Given the description of an element on the screen output the (x, y) to click on. 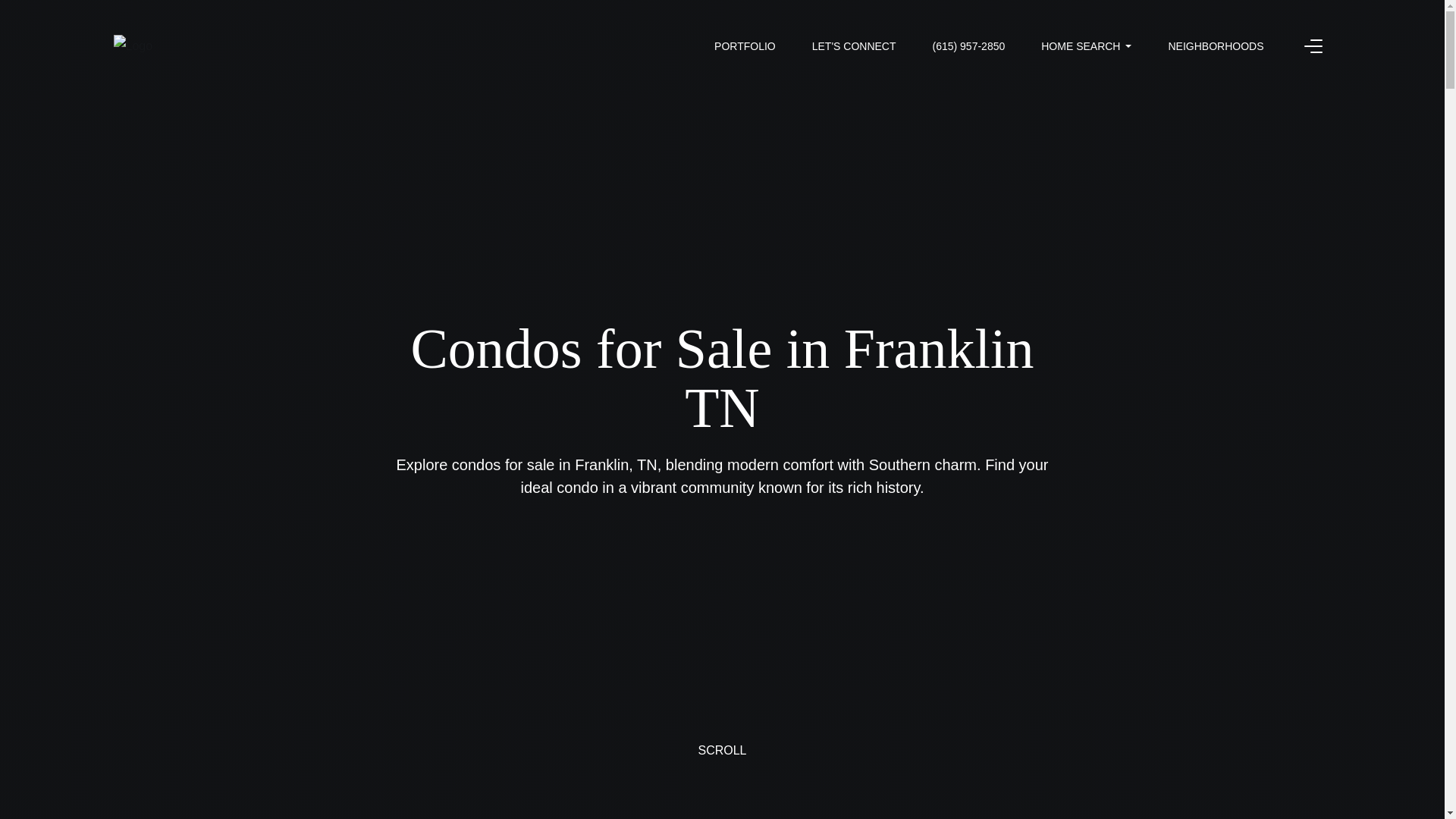
SCROLL (722, 765)
SCROLL (722, 765)
HOME SEARCH (1086, 46)
LET'S CONNECT (854, 46)
NEIGHBORHOODS (1215, 46)
PORTFOLIO (745, 46)
